Given the description of an element on the screen output the (x, y) to click on. 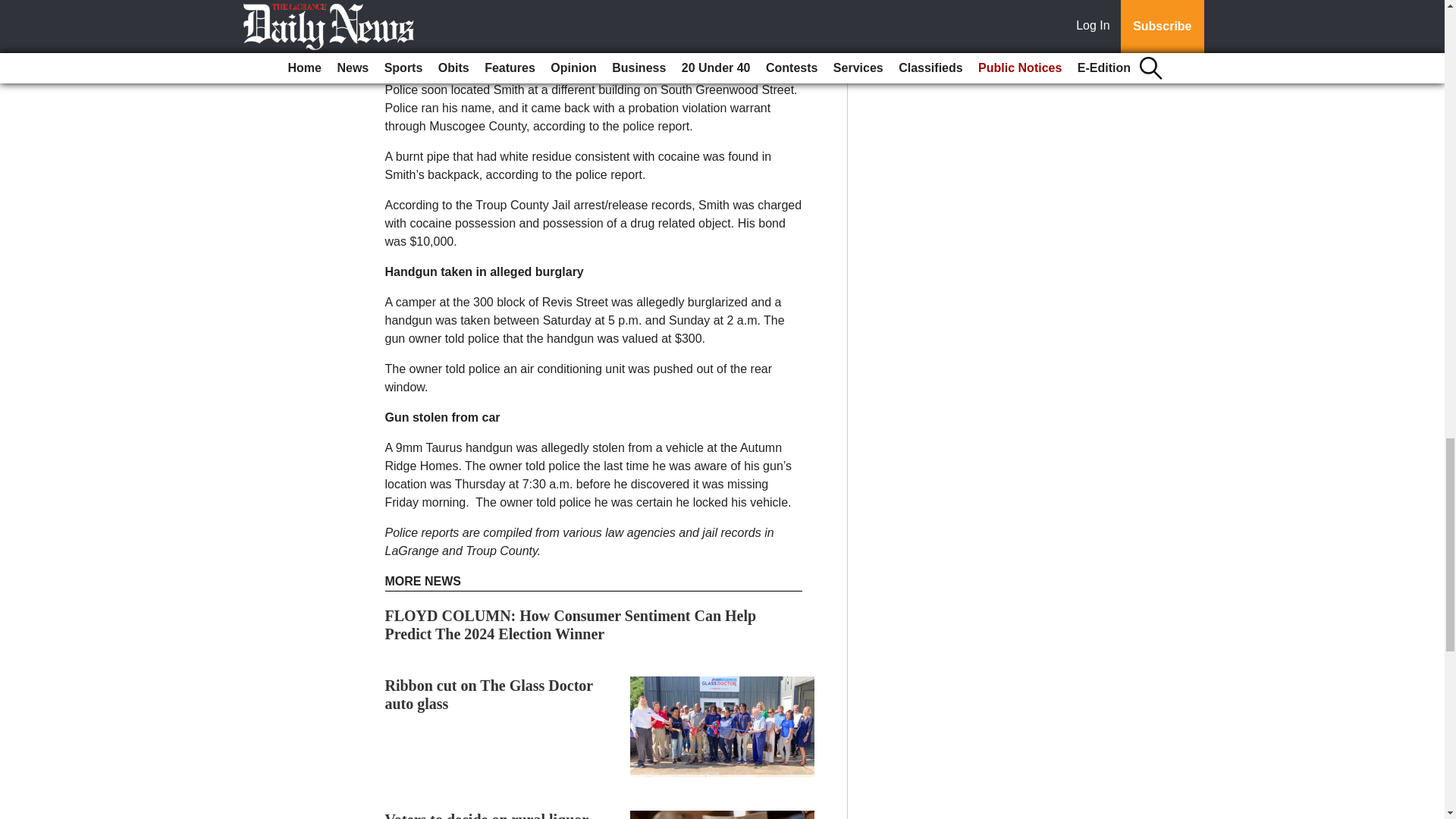
Ribbon cut on The Glass Doctor auto glass (488, 694)
Voters to decide on rural liquor drink sales (486, 815)
Voters to decide on rural liquor drink sales (486, 815)
Ribbon cut on The Glass Doctor auto glass (488, 694)
